Given the description of an element on the screen output the (x, y) to click on. 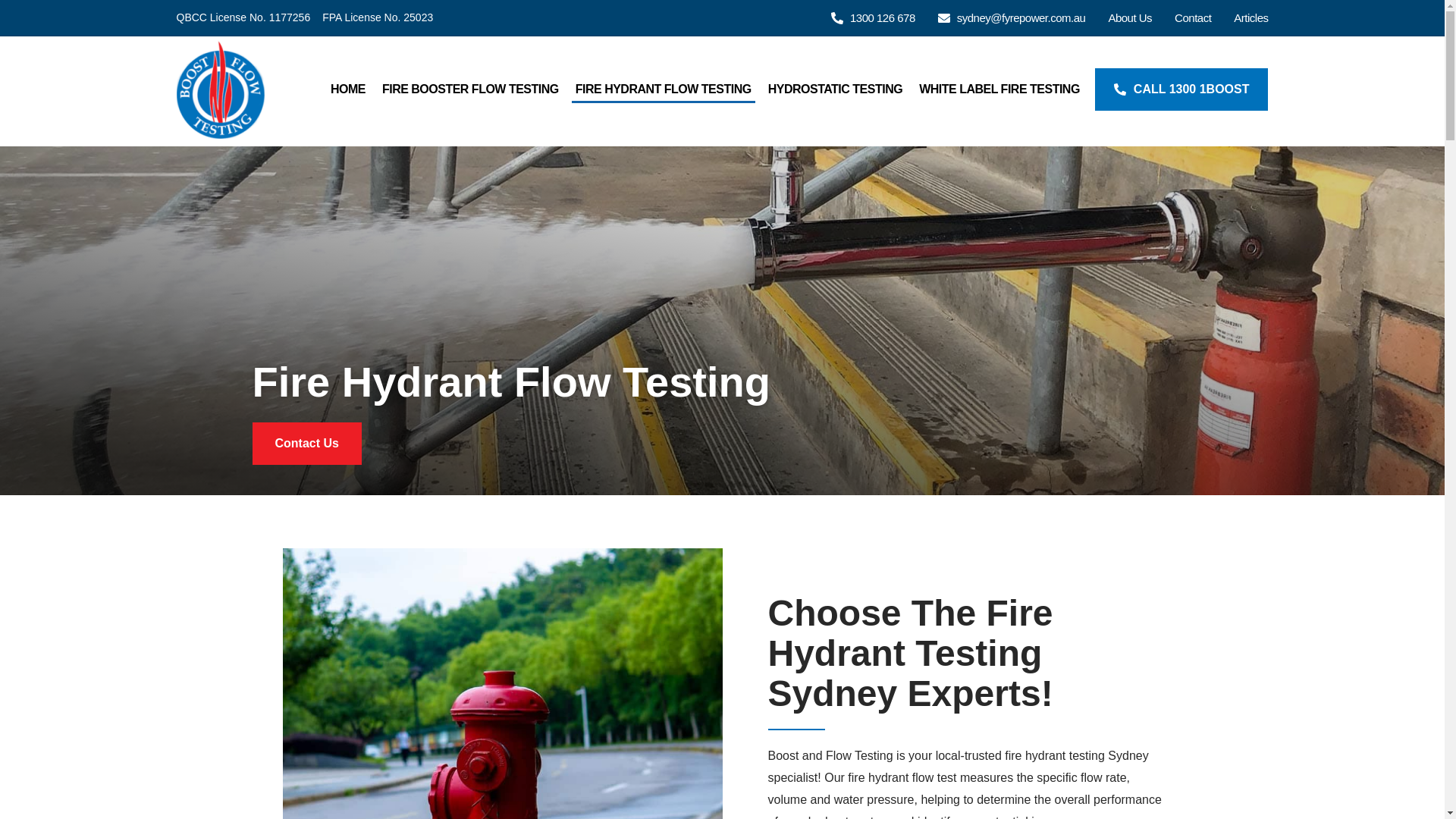
HYDROSTATIC TESTING (834, 89)
Contact Us (306, 443)
1300 126 678 (873, 17)
About Us (1129, 17)
CALL 1300 1BOOST (1181, 89)
WHITE LABEL FIRE TESTING (999, 89)
FIRE BOOSTER FLOW TESTING (470, 89)
Contact (1192, 17)
HOME (347, 89)
Articles (1250, 17)
